Given the description of an element on the screen output the (x, y) to click on. 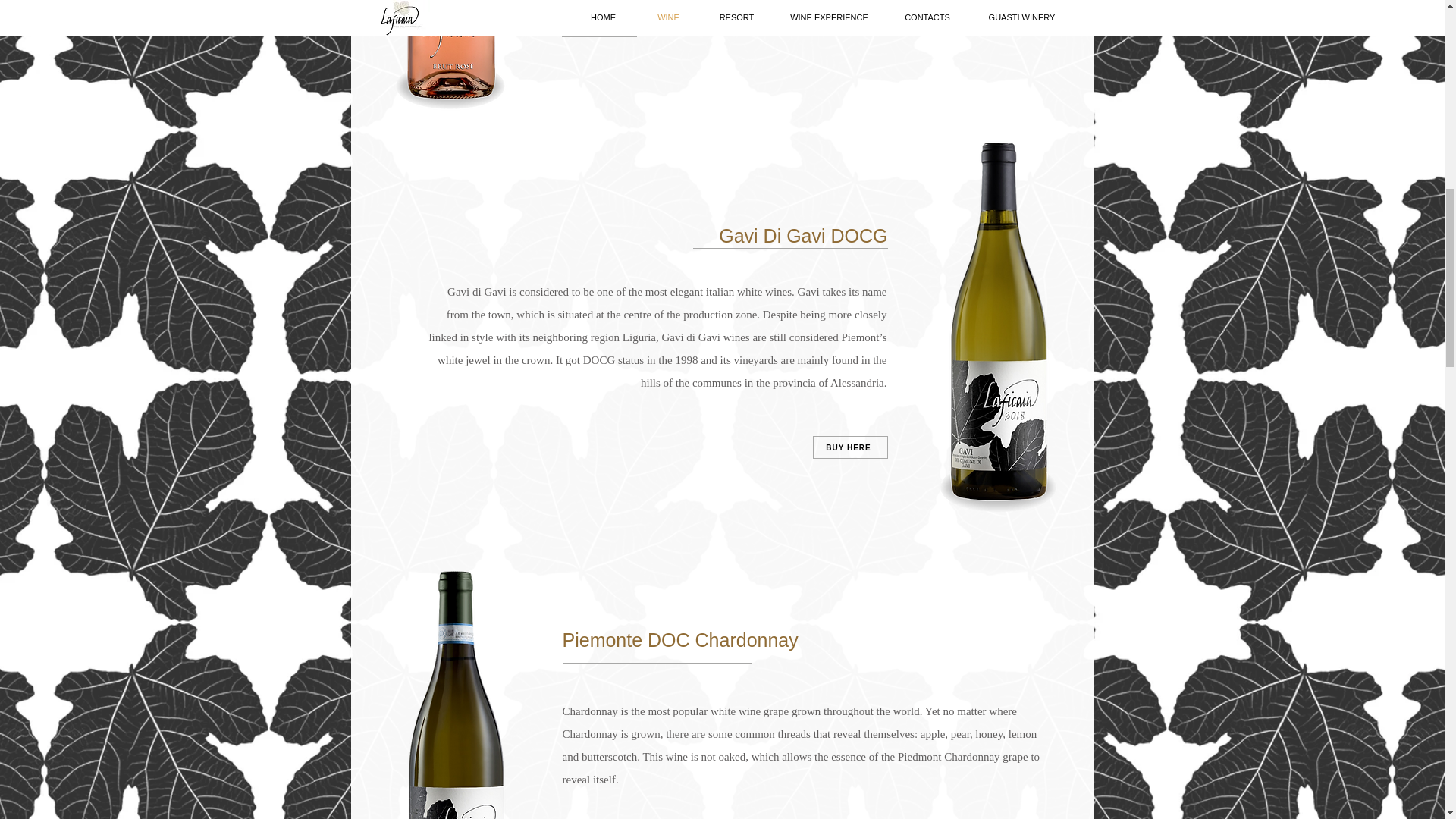
BUY HERE (850, 446)
BUY HERE (598, 25)
